Given the description of an element on the screen output the (x, y) to click on. 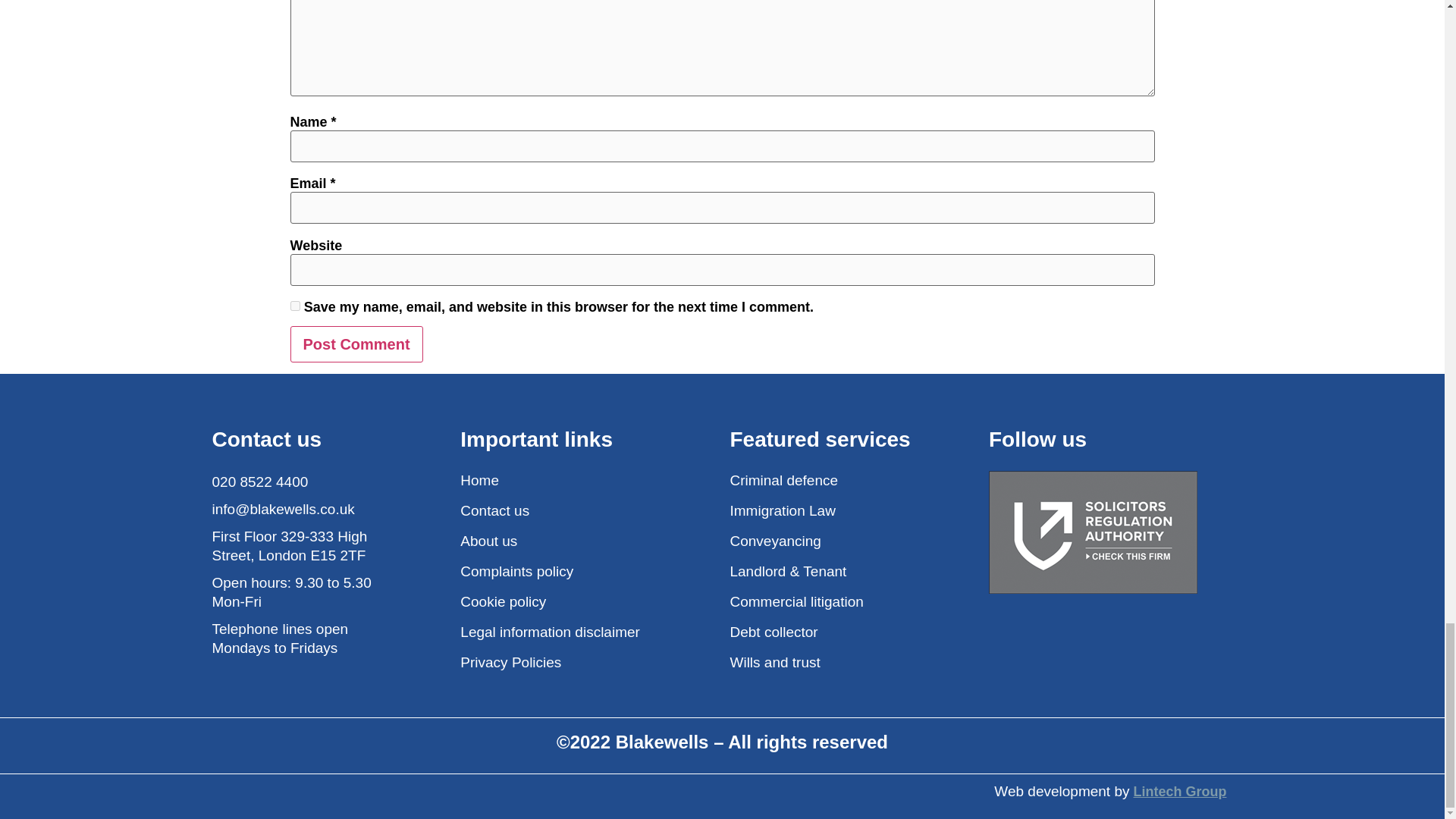
Contact us (587, 510)
Cookie policy (587, 601)
Post Comment (355, 343)
Complaints policy (587, 570)
First Floor 329-333 High Street, London E15 2TF (302, 546)
020 8522 4400 (302, 481)
Home (587, 479)
Post Comment (355, 343)
About us (587, 540)
yes (294, 306)
